Given the description of an element on the screen output the (x, y) to click on. 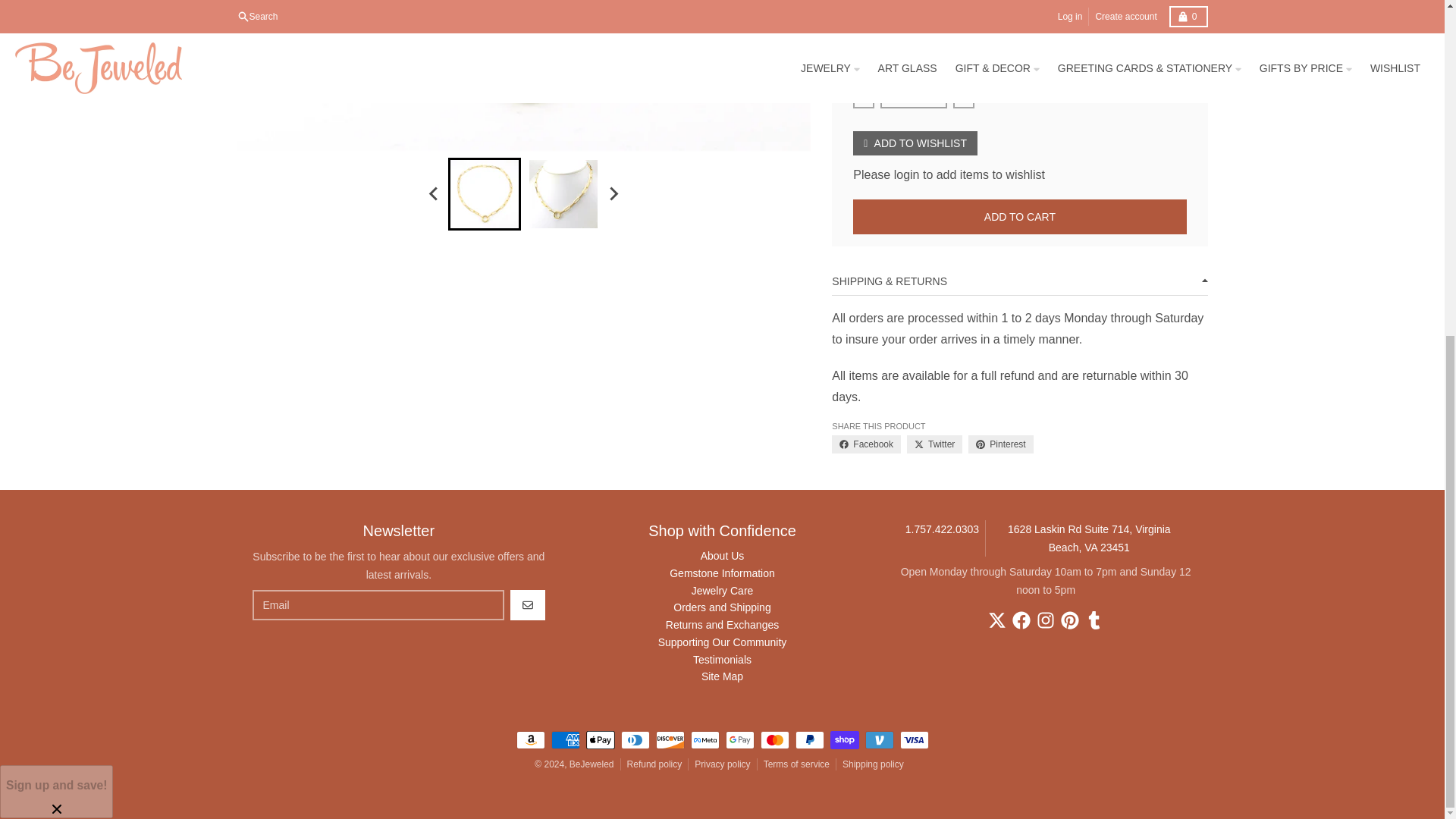
Facebook - BeJeweled (1020, 619)
Instagram - BeJeweled (1045, 619)
Pinterest - BeJeweled (1069, 619)
Twitter - BeJeweled (997, 619)
1 (913, 96)
Tumblr - BeJeweled (1093, 619)
